Given the description of an element on the screen output the (x, y) to click on. 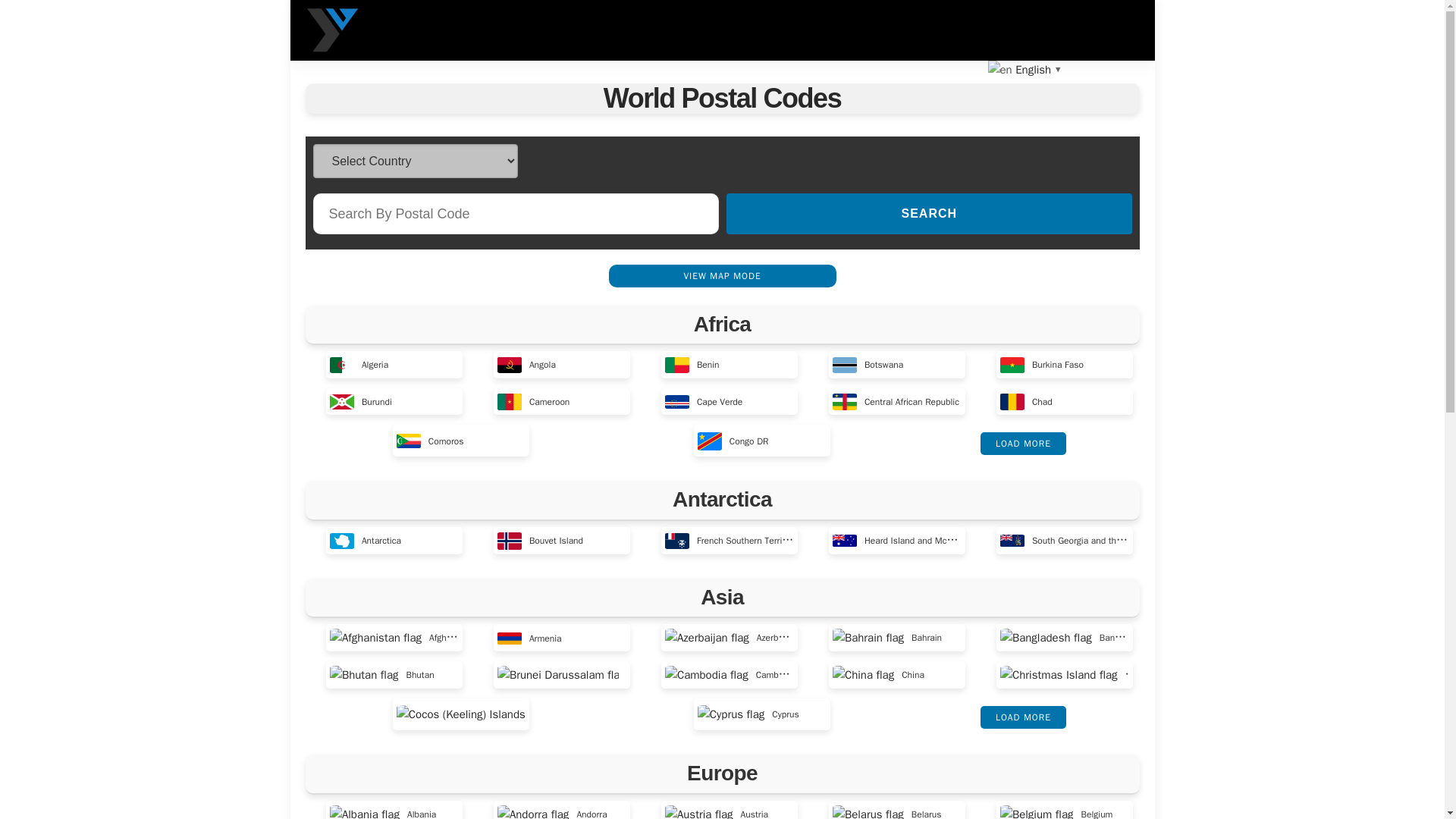
Yours Truly (331, 30)
